Given the description of an element on the screen output the (x, y) to click on. 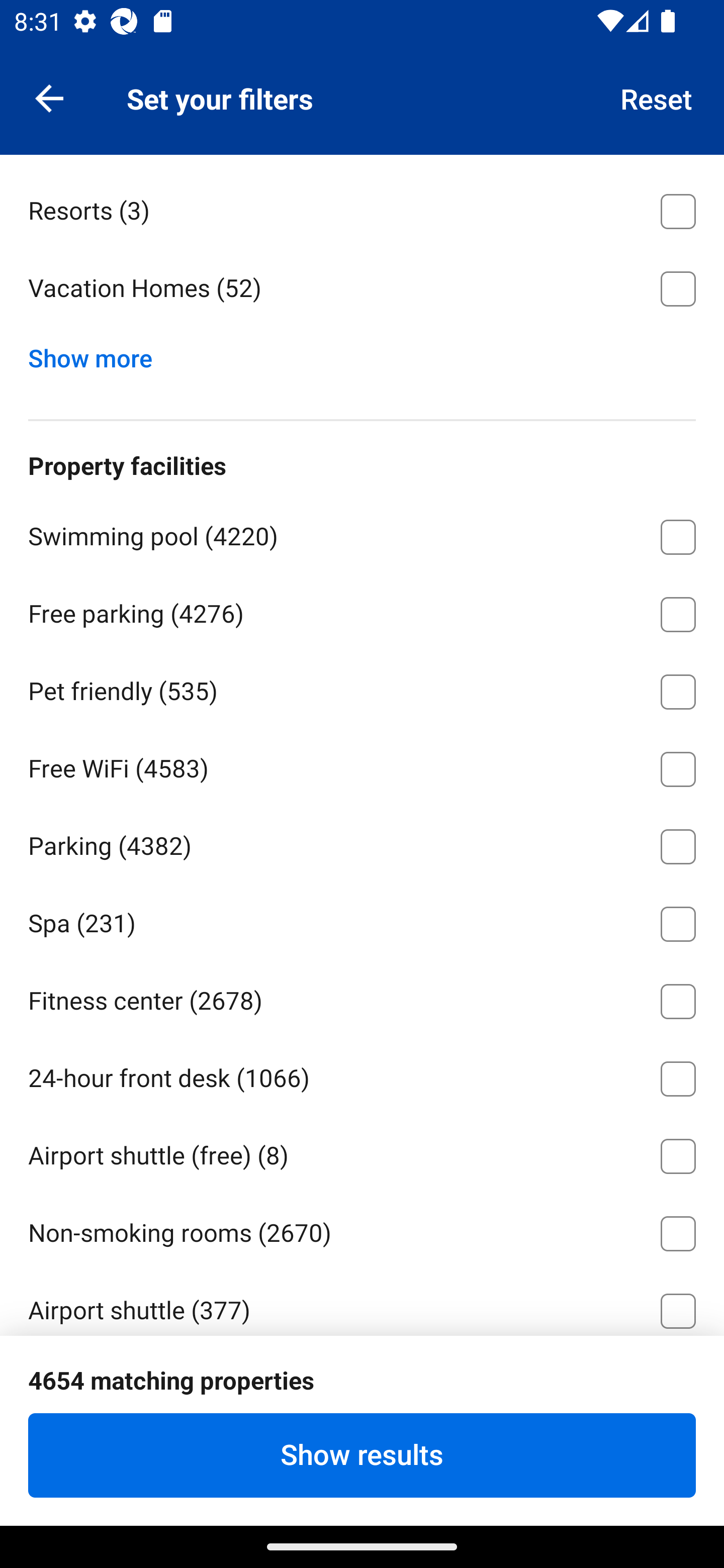
Navigate up (49, 97)
Reset (656, 97)
Resorts ⁦(3) (361, 207)
Vacation Homes ⁦(52) (361, 288)
Show more (97, 353)
Swimming pool ⁦(4220) (361, 533)
Free parking ⁦(4276) (361, 610)
Pet friendly ⁦(535) (361, 688)
Free WiFi ⁦(4583) (361, 765)
Parking ⁦(4382) (361, 842)
Spa ⁦(231) (361, 920)
Fitness center ⁦(2678) (361, 997)
24-hour front desk ⁦(1066) (361, 1075)
Airport shuttle (free) ⁦(8) (361, 1152)
Non-smoking rooms ⁦(2670) (361, 1229)
Airport shuttle ⁦(377) (361, 1301)
Restaurant ⁦(307) (361, 1384)
Show results (361, 1454)
